Given the description of an element on the screen output the (x, y) to click on. 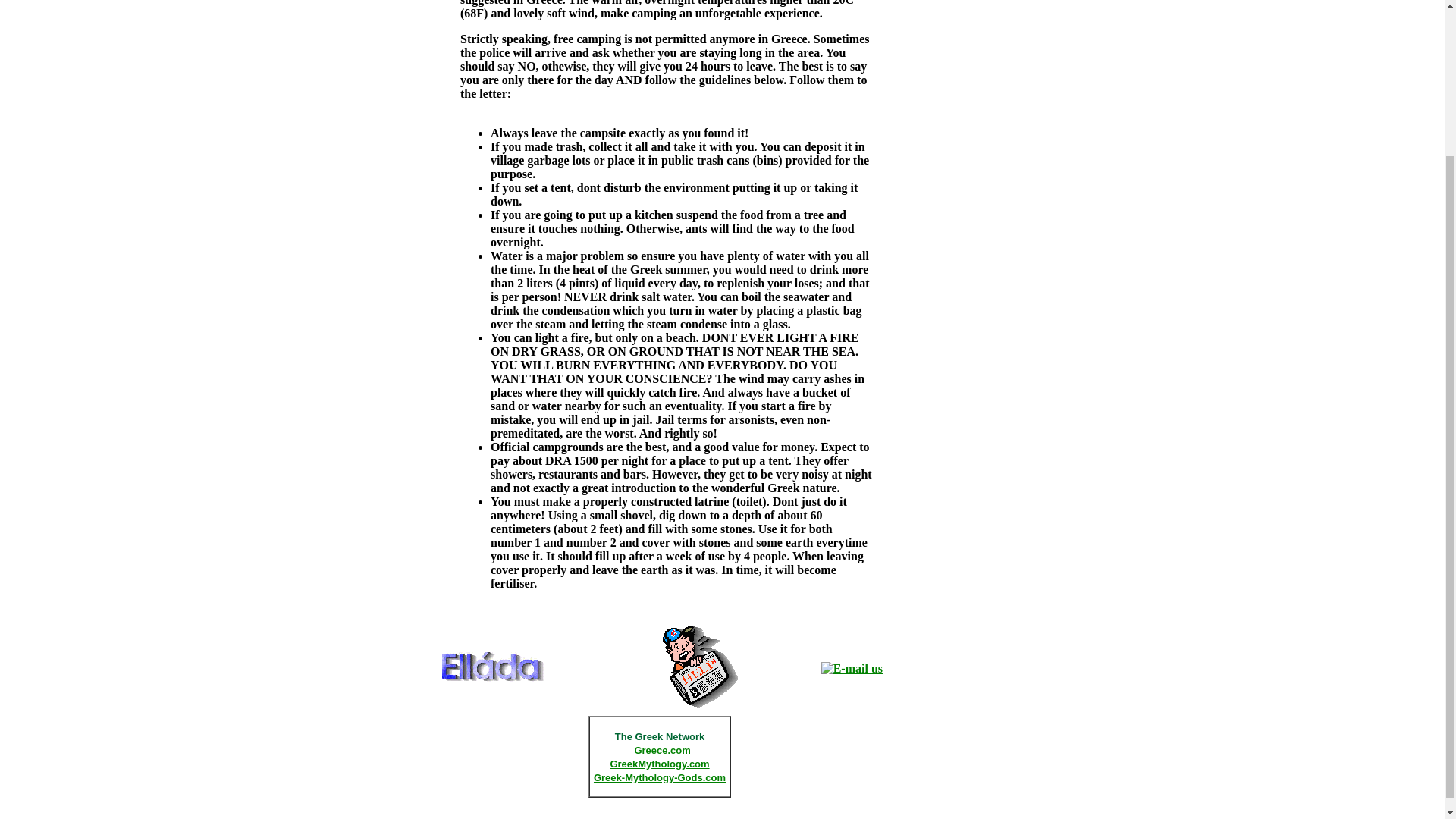
Greece.com (661, 748)
Greek-Mythology-Gods.com (659, 776)
GreekMythology.com (659, 762)
